Given the description of an element on the screen output the (x, y) to click on. 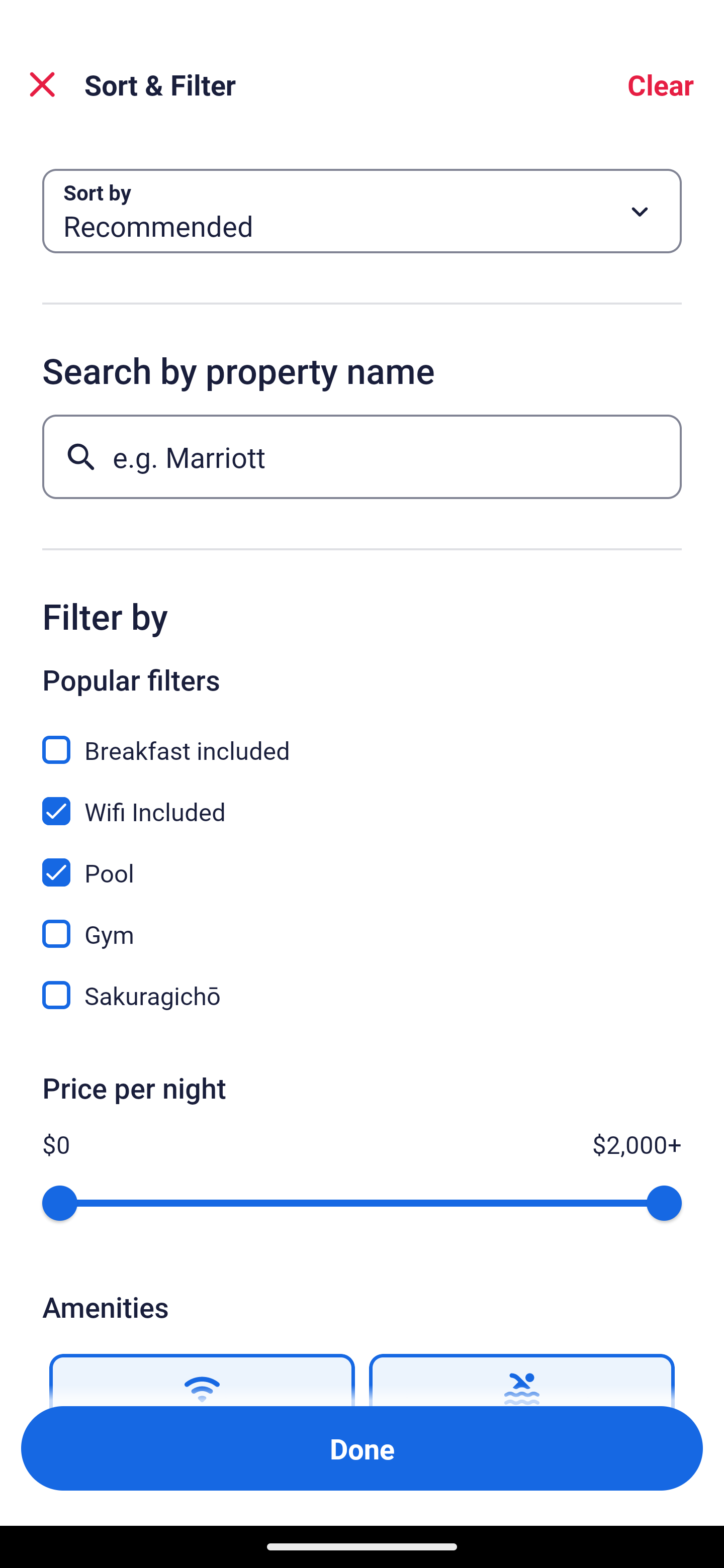
Close Sort and Filter (42, 84)
Clear (660, 84)
Sort by Button Recommended (361, 211)
e.g. Marriott Button (361, 455)
Breakfast included, Breakfast included (361, 738)
Wifi Included, Wifi Included (361, 800)
Pool, Pool (361, 861)
Gym, Gym (361, 922)
Sakuragichō, Sakuragichō (361, 995)
Apply and close Sort and Filter Done (361, 1448)
